Given the description of an element on the screen output the (x, y) to click on. 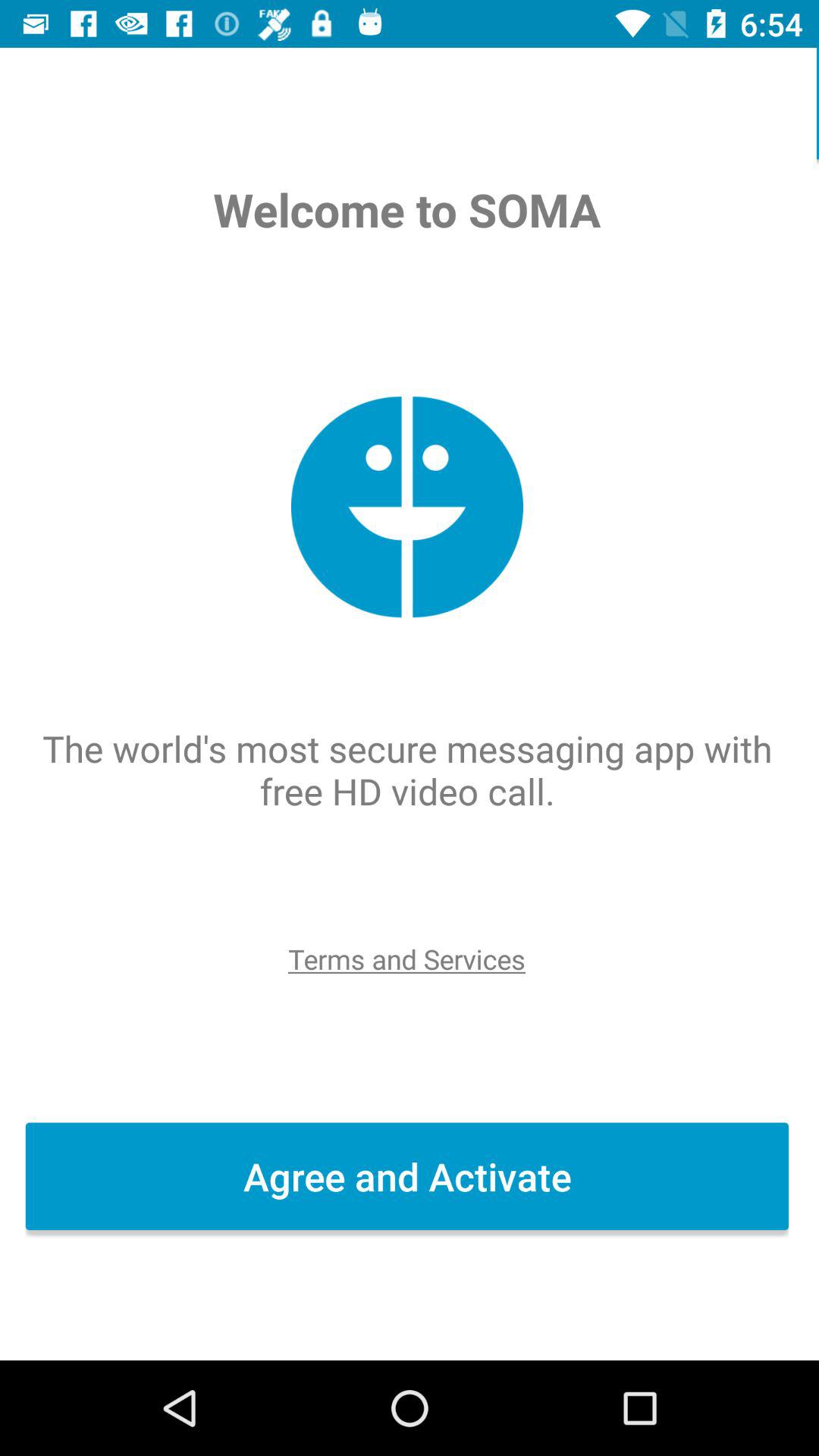
launch terms and services (408, 959)
